Given the description of an element on the screen output the (x, y) to click on. 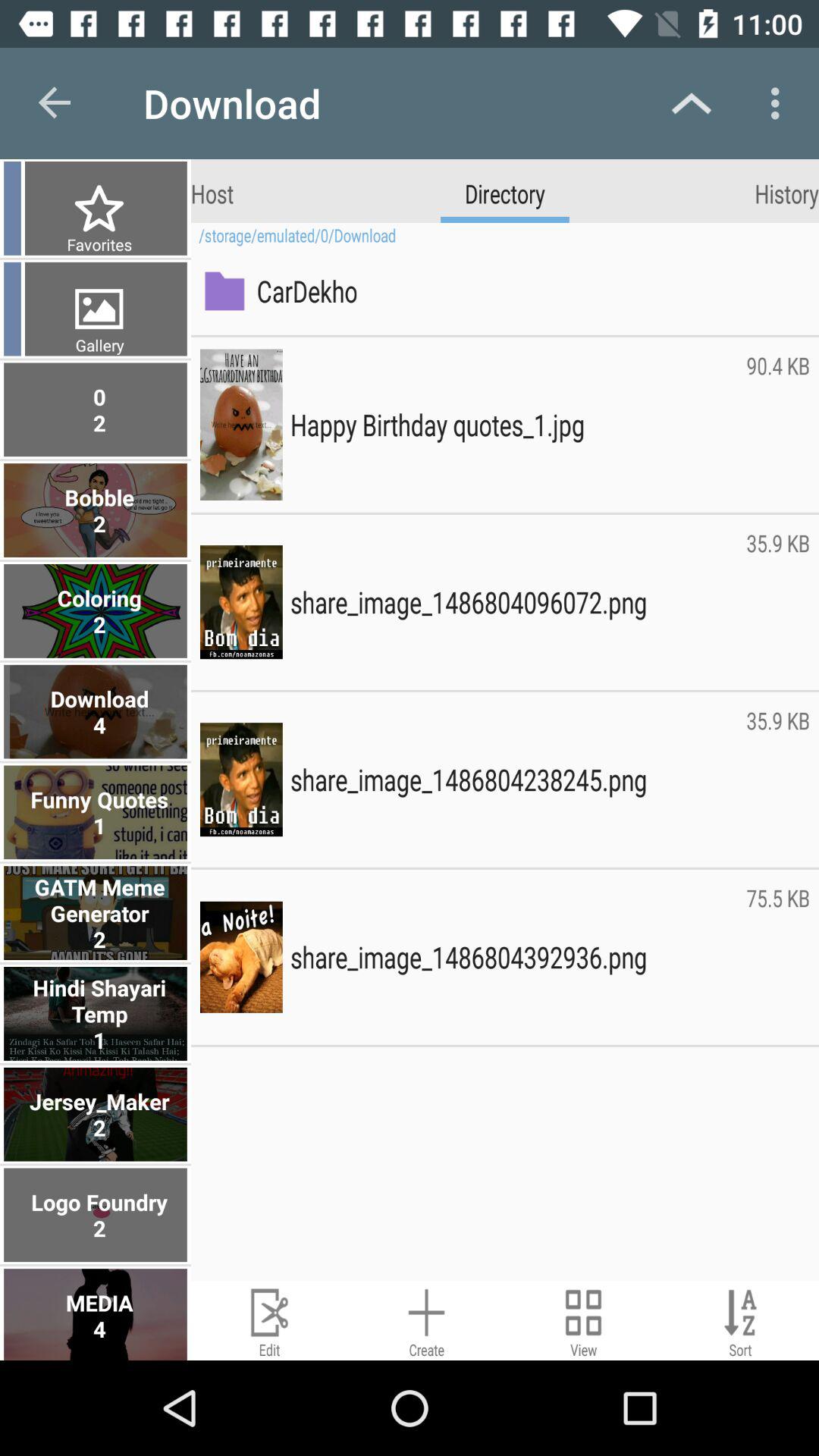
open the icon next to 90.4 kb (514, 424)
